Given the description of an element on the screen output the (x, y) to click on. 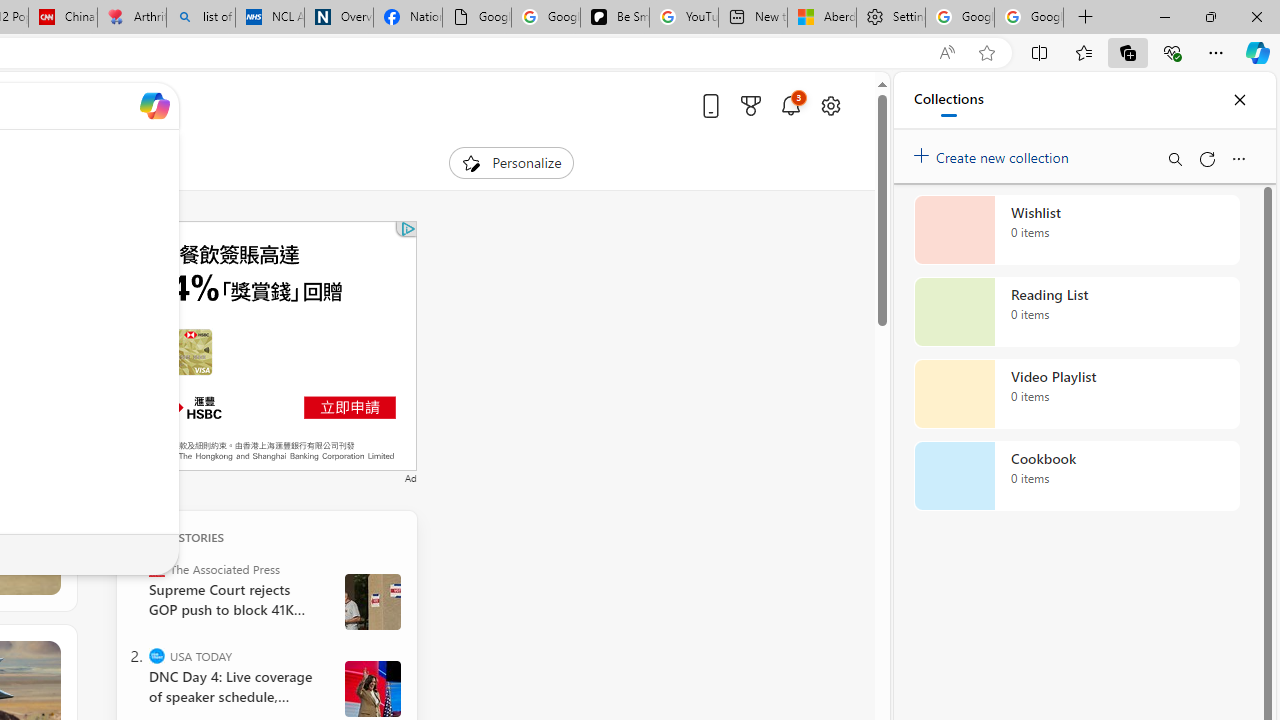
Video Playlist collection, 0 items (1076, 394)
Aberdeen, Hong Kong SAR hourly forecast | Microsoft Weather (822, 17)
Cookbook collection, 0 items (1076, 475)
Create new collection (994, 153)
Arthritis: Ask Health Professionals (132, 17)
